Given the description of an element on the screen output the (x, y) to click on. 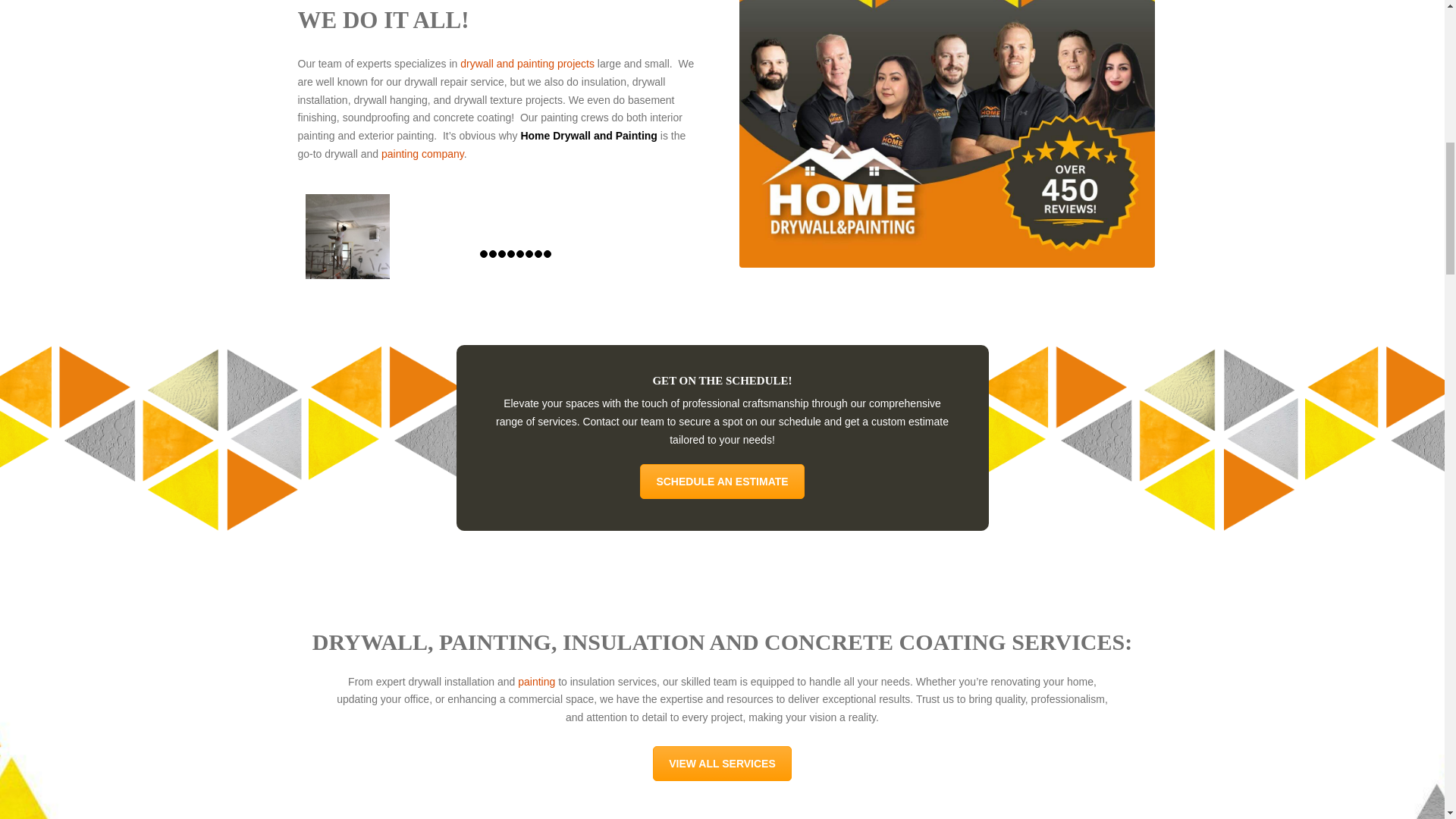
painting company (422, 153)
11 (347, 236)
SCHEDULE AN ESTIMATE (721, 481)
drywall and painting projects (527, 63)
VIEW ALL SERVICES (722, 763)
painting (536, 681)
